Given the description of an element on the screen output the (x, y) to click on. 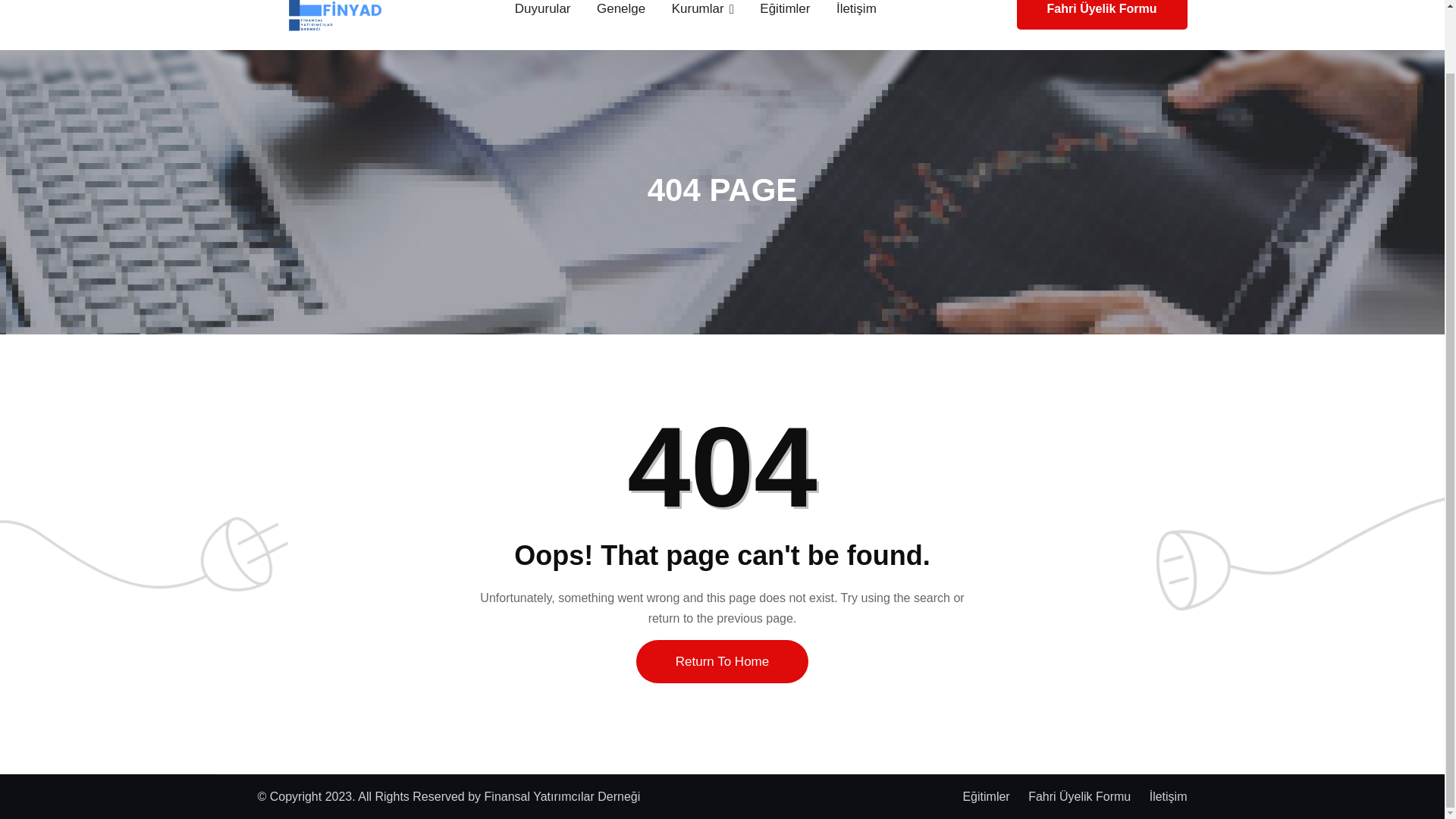
Duyurular (542, 21)
Genelge (620, 21)
Duyurular (542, 21)
Return To Home (722, 661)
Genelge (620, 21)
Kurumlar (703, 21)
Kurumlar (703, 21)
